Given the description of an element on the screen output the (x, y) to click on. 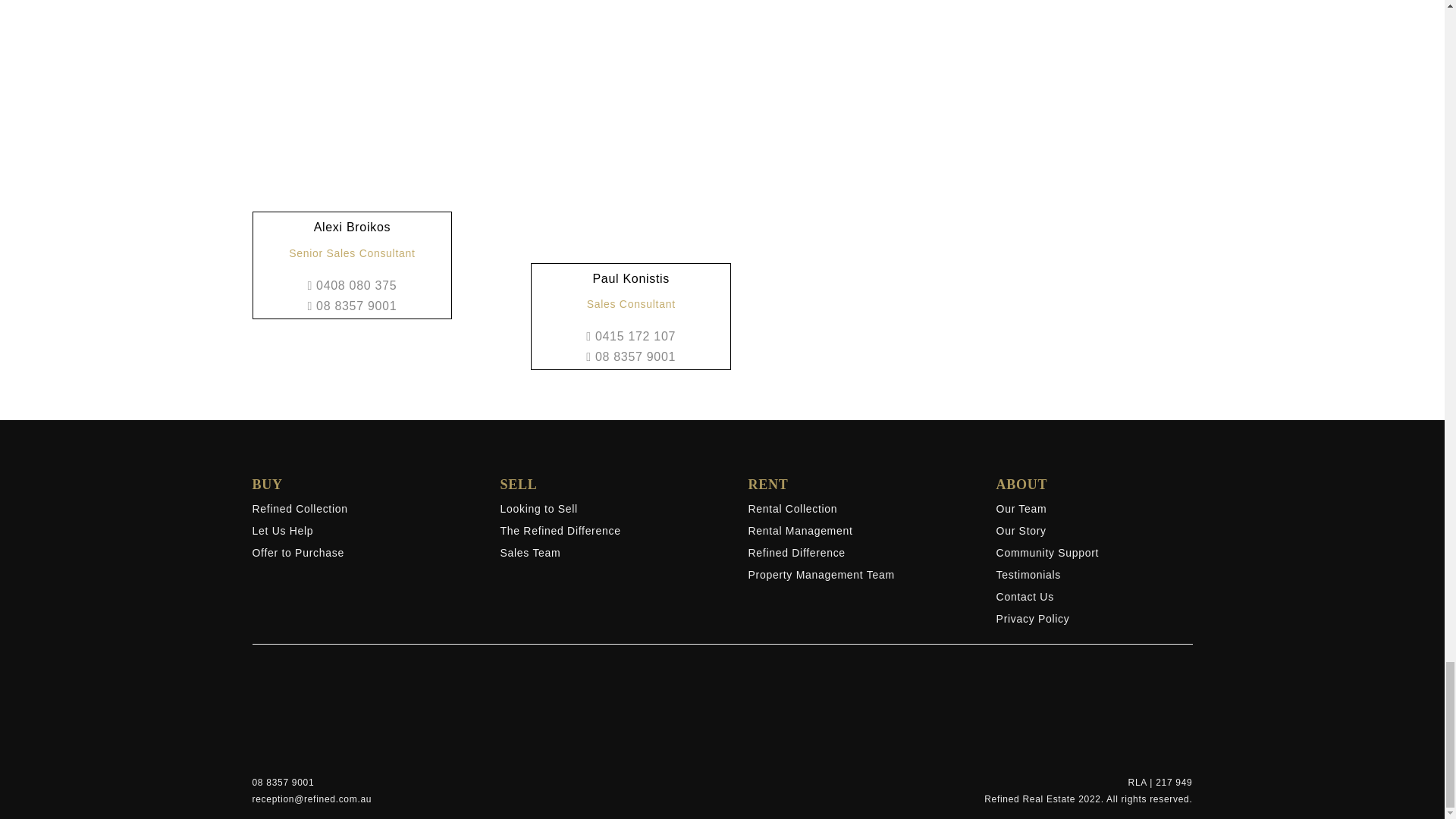
Alexi Broikos (352, 226)
